Given the description of an element on the screen output the (x, y) to click on. 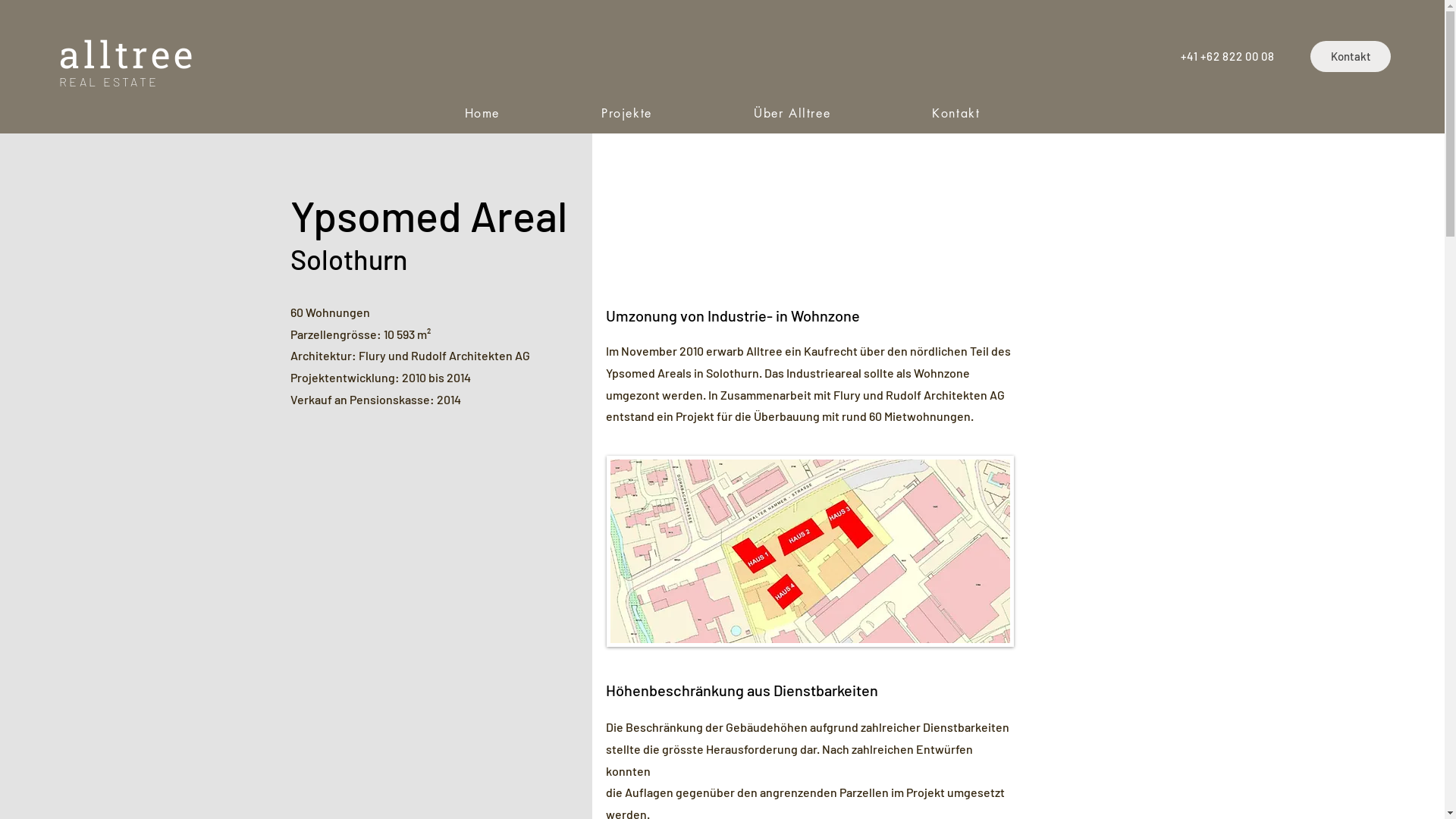
Kontakt Element type: text (1350, 56)
Home Element type: text (482, 112)
Projekte Element type: text (626, 112)
Kontakt Element type: text (955, 112)
